Given the description of an element on the screen output the (x, y) to click on. 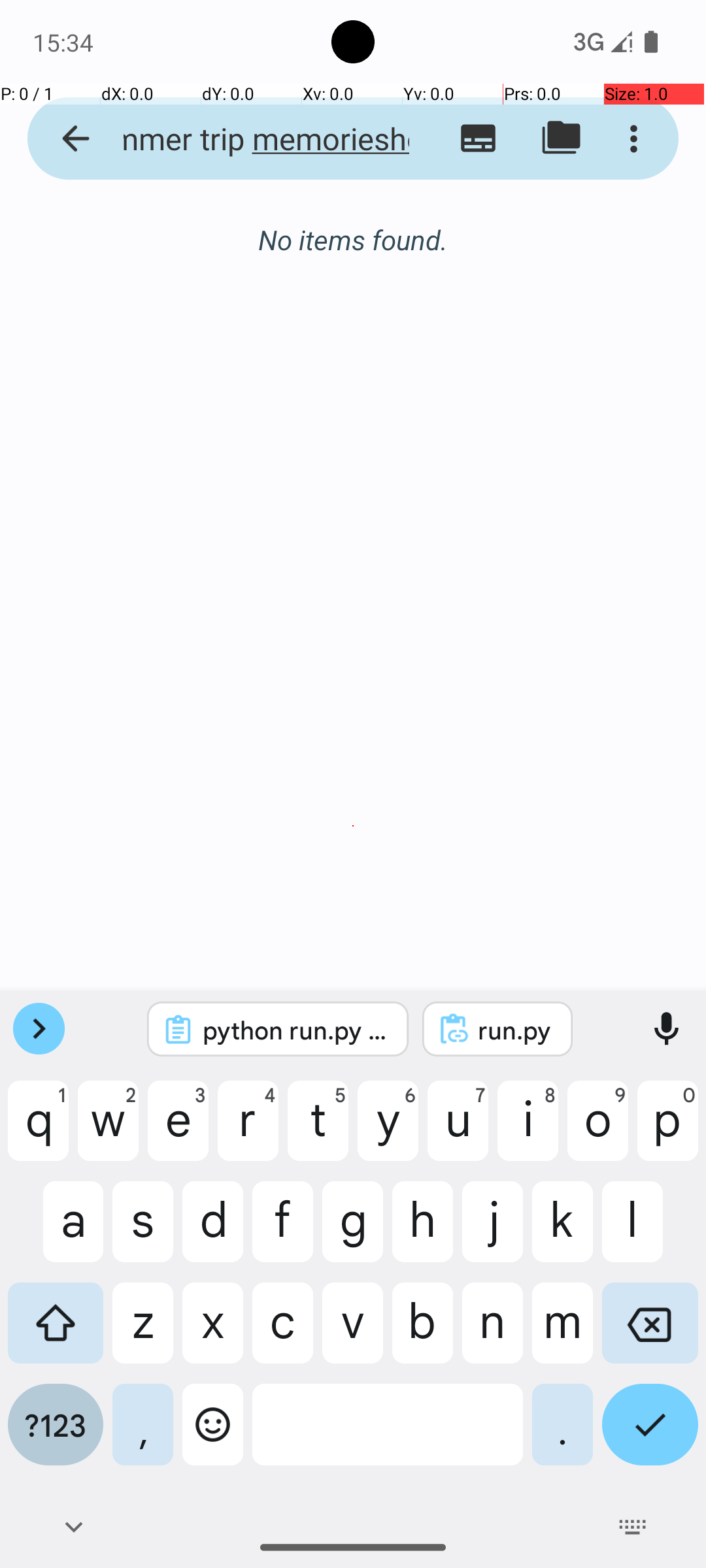
vacation psummer trip memorieshotos 2023 Element type: android.widget.EditText (252, 138)
Switch to folder view Element type: android.widget.Button (560, 138)
python run.py \   --suite_family=android_world \   --agent_name=t3a_gpt4 \   --perform_emulator_setup \   --tasks=ContactsAddContact,ClockStopWatchRunning \  # Optional: Just run on a subset. Element type: android.widget.TextView (294, 1029)
run.py Element type: android.widget.TextView (514, 1029)
